Given the description of an element on the screen output the (x, y) to click on. 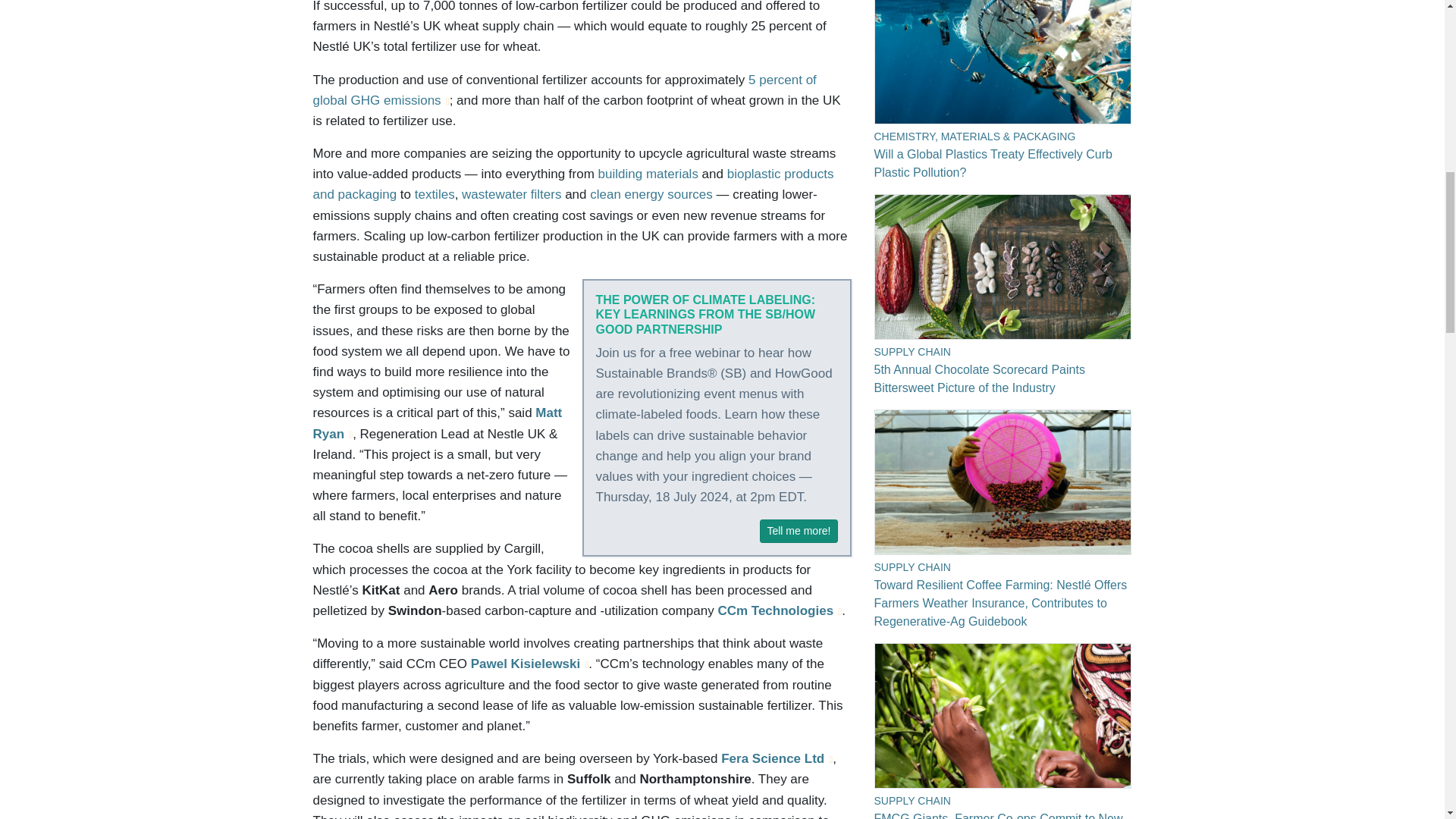
5 percent of global GHG emissions (564, 89)
building materials (648, 173)
